Given the description of an element on the screen output the (x, y) to click on. 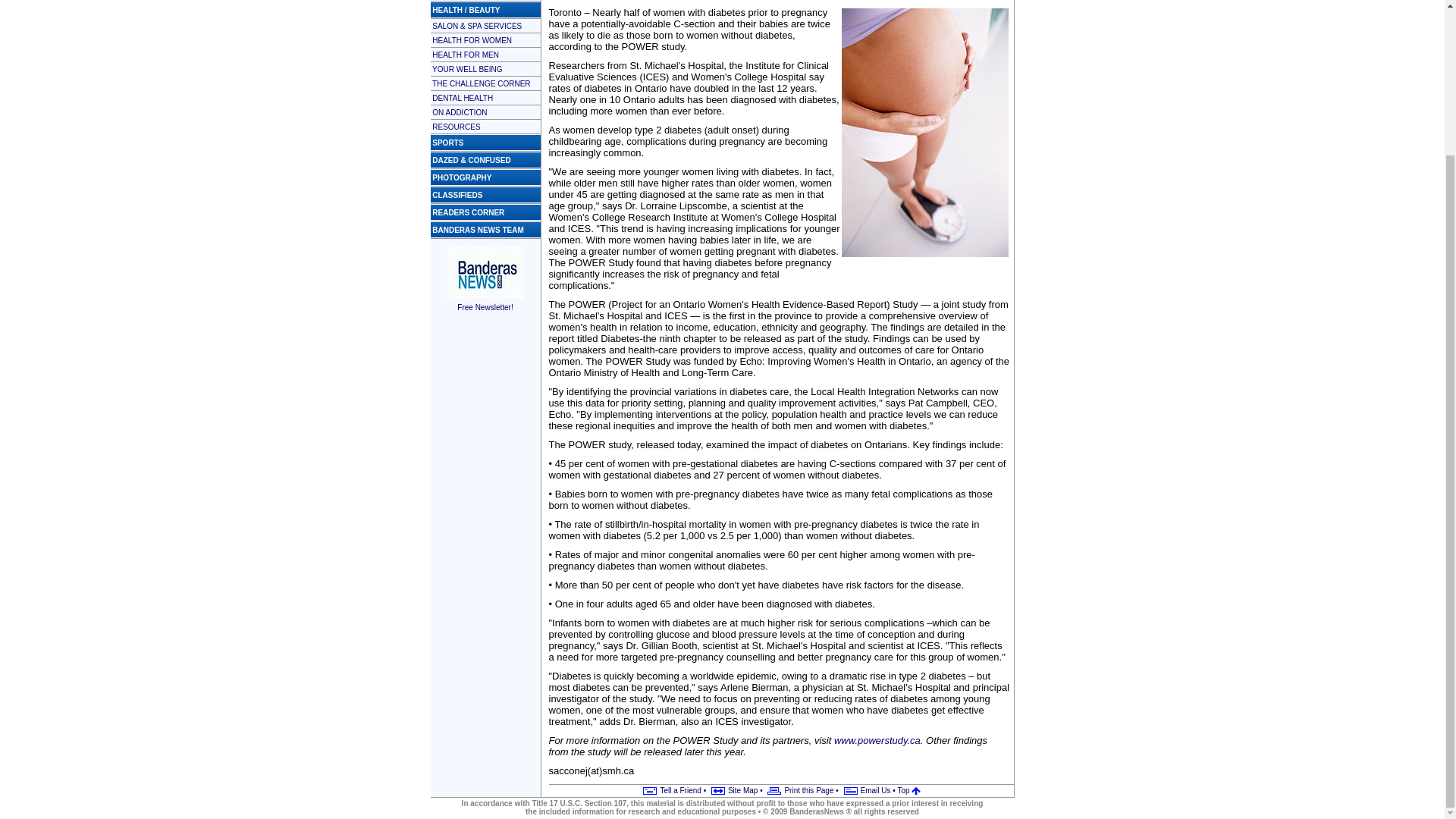
SPORTS (447, 142)
PHOTOGRAPHY (462, 177)
DENTAL HEALTH (462, 97)
RESOURCES (456, 126)
Site Map (732, 790)
www.powerstudy.ca (877, 740)
CLASSIFIEDS (456, 194)
Print this Page (798, 790)
HEALTH FOR WOMEN (472, 40)
Free Newsletter! (484, 301)
